Given the description of an element on the screen output the (x, y) to click on. 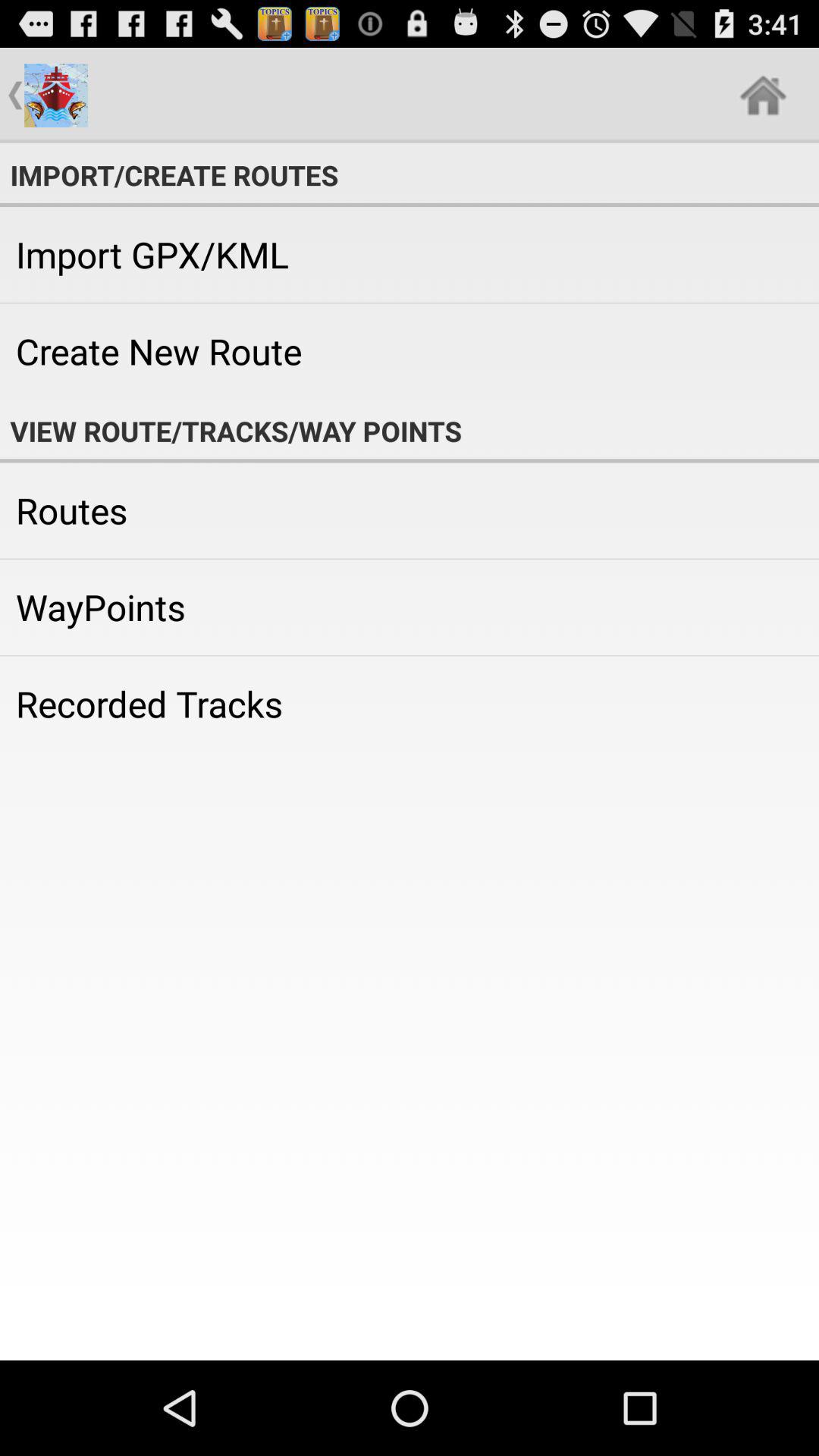
turn off icon below the import gpx/kml icon (409, 351)
